Given the description of an element on the screen output the (x, y) to click on. 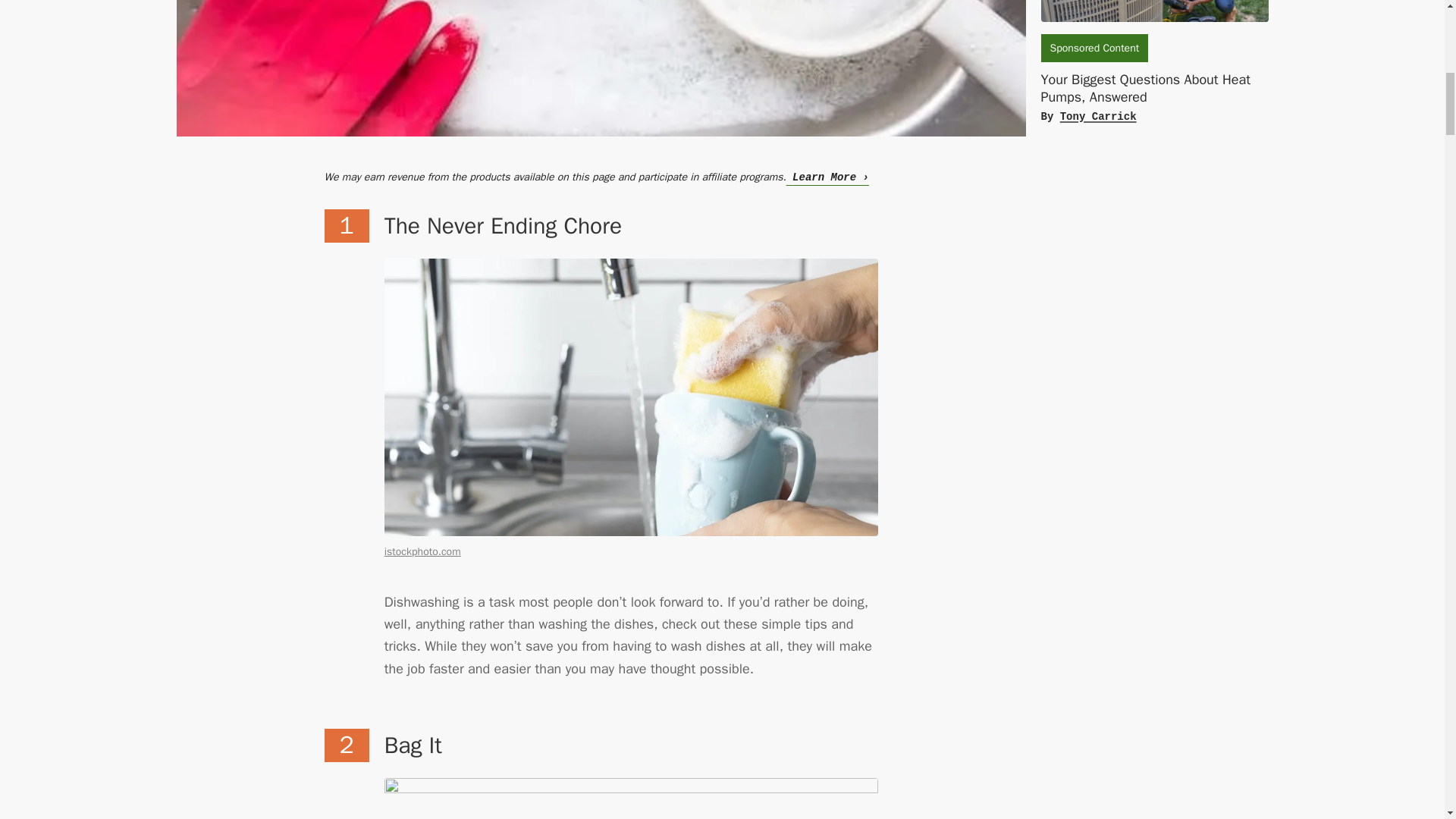
istockphoto.com (422, 551)
